Given the description of an element on the screen output the (x, y) to click on. 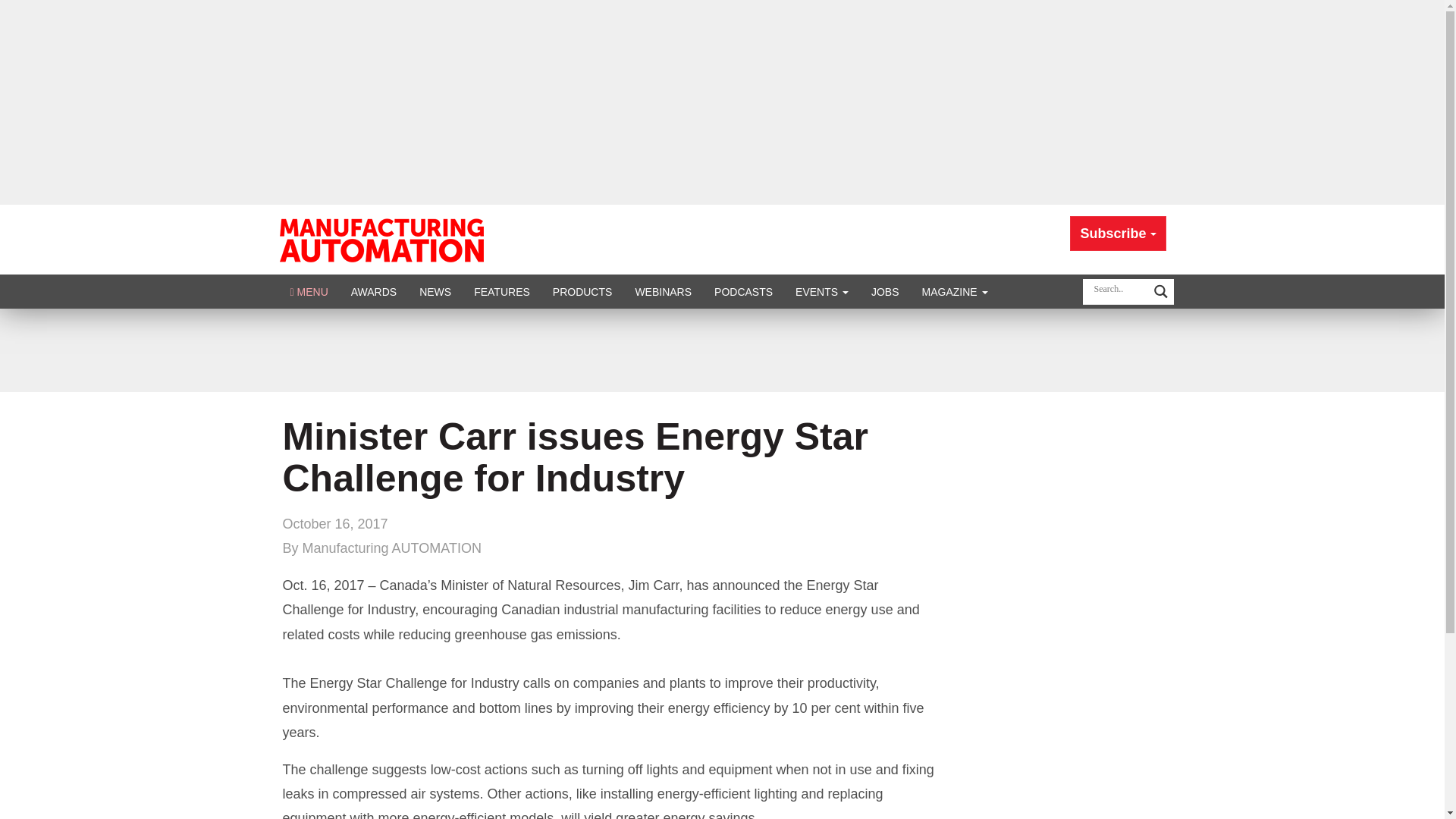
3rd party ad content (721, 350)
AWARDS (373, 291)
FEATURES (502, 291)
Subscribe (1118, 233)
MAGAZINE (954, 291)
Click to show site navigation (309, 291)
NEWS (435, 291)
PRODUCTS (582, 291)
WEBINARS (663, 291)
MENU (309, 291)
